Given the description of an element on the screen output the (x, y) to click on. 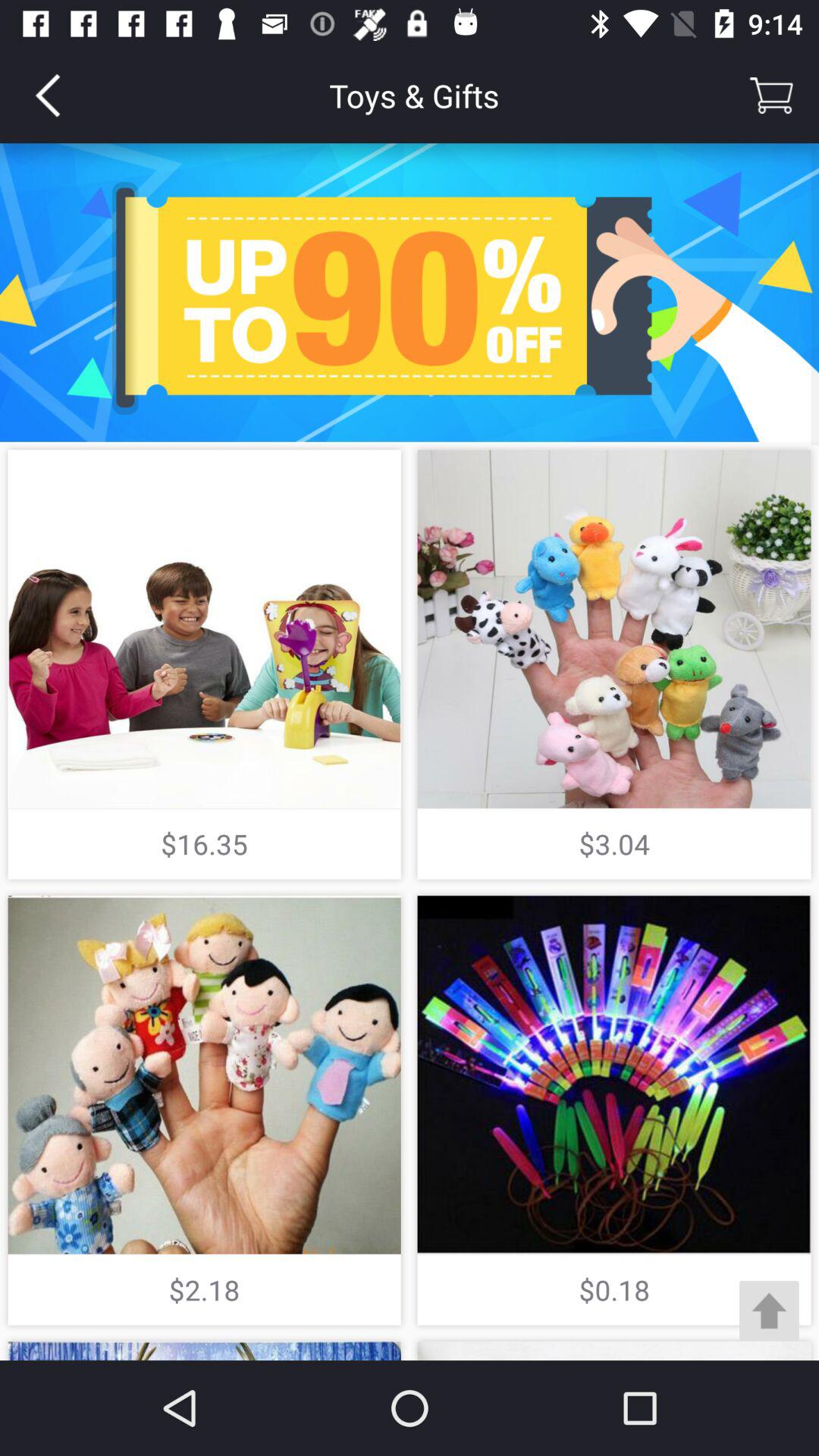
selects shopping cart (771, 95)
